Given the description of an element on the screen output the (x, y) to click on. 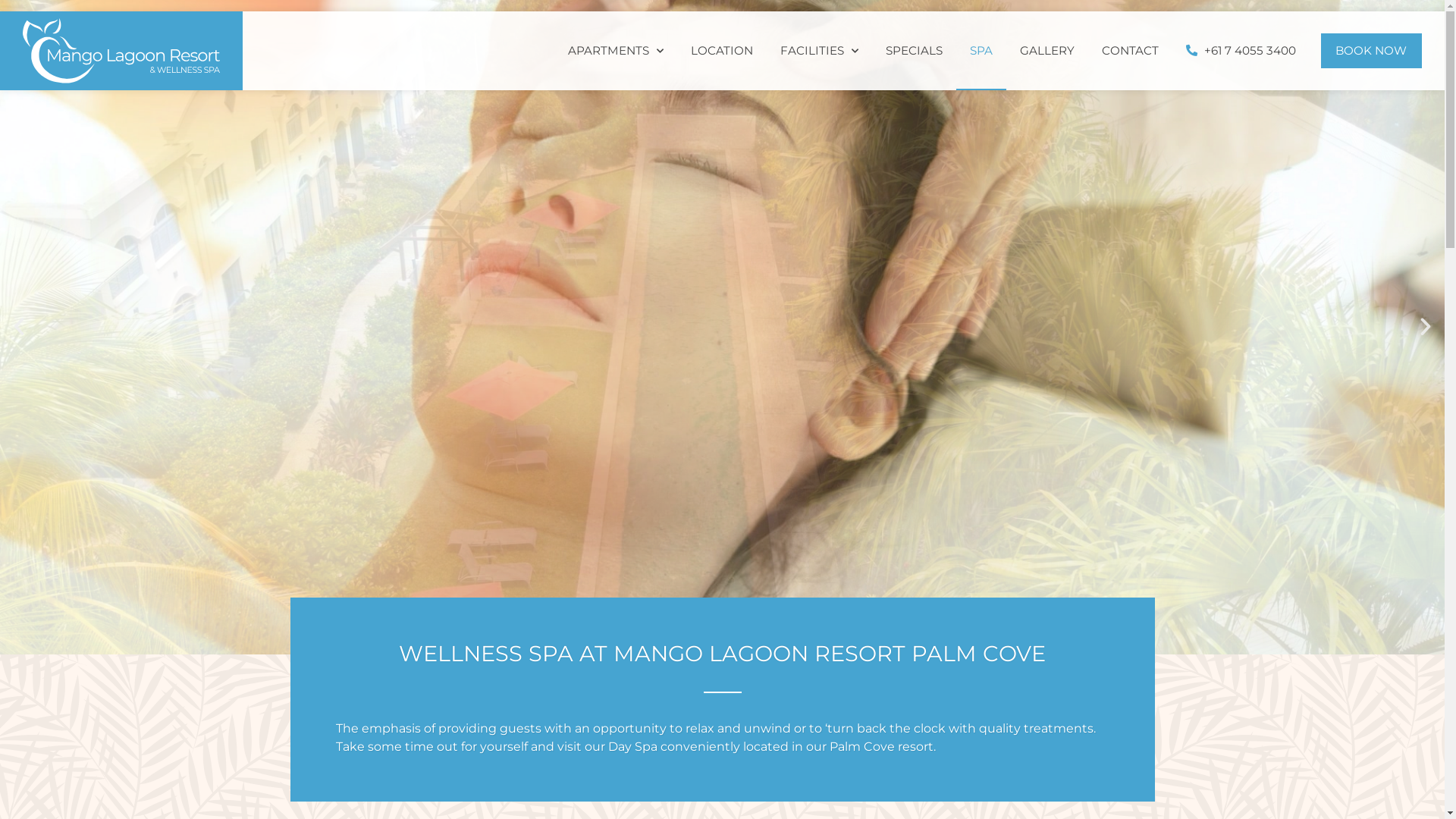
SPA Element type: text (980, 50)
GALLERY Element type: text (1046, 50)
FACILITIES Element type: text (818, 50)
APARTMENTS Element type: text (614, 50)
SPECIALS Element type: text (914, 50)
CONTACT Element type: text (1129, 50)
BOOK NOW Element type: text (1371, 50)
LOCATION Element type: text (720, 50)
+61 7 4055 3400 Element type: text (1240, 50)
